Given the description of an element on the screen output the (x, y) to click on. 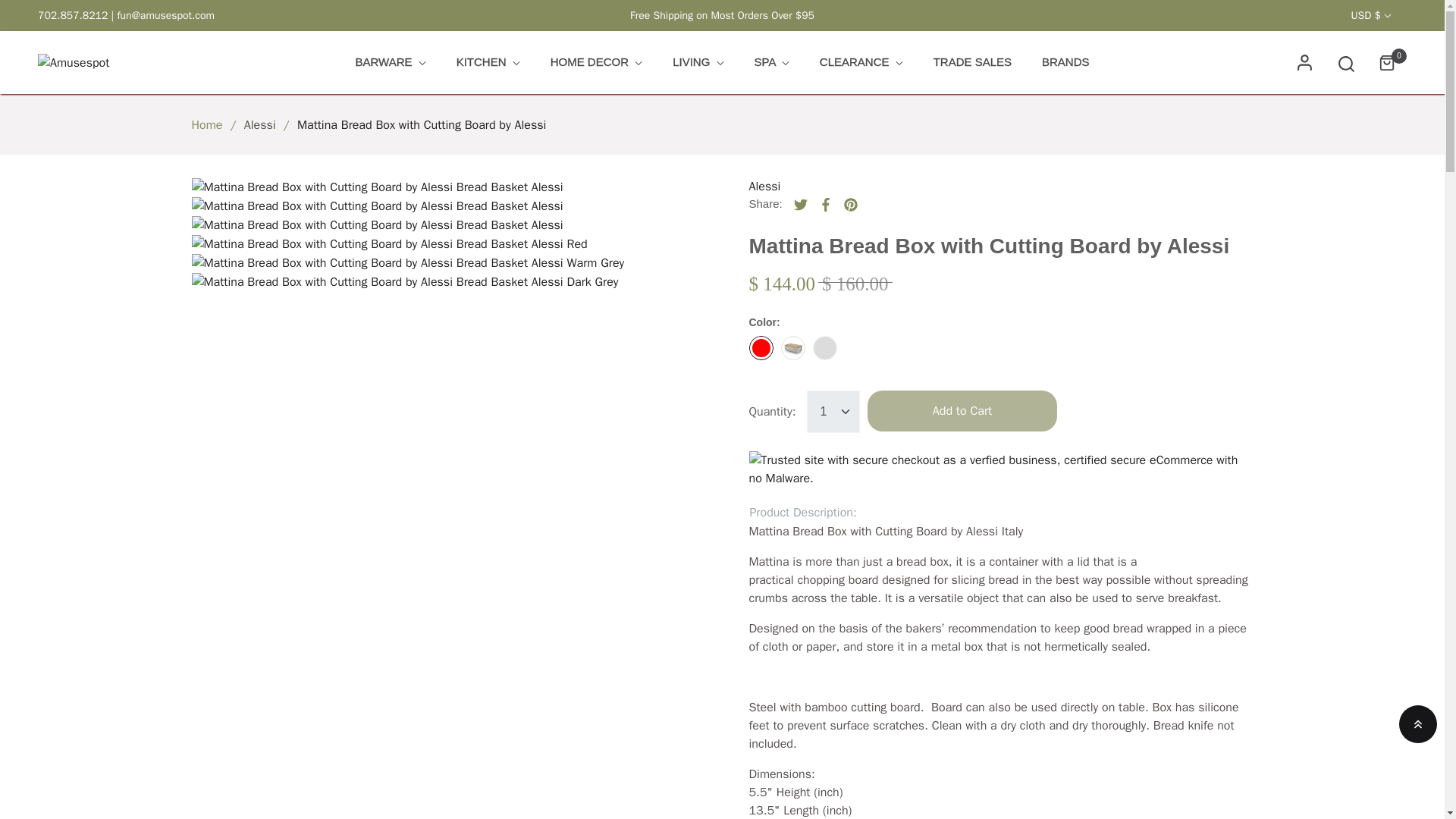
BARWARE (390, 61)
